Given the description of an element on the screen output the (x, y) to click on. 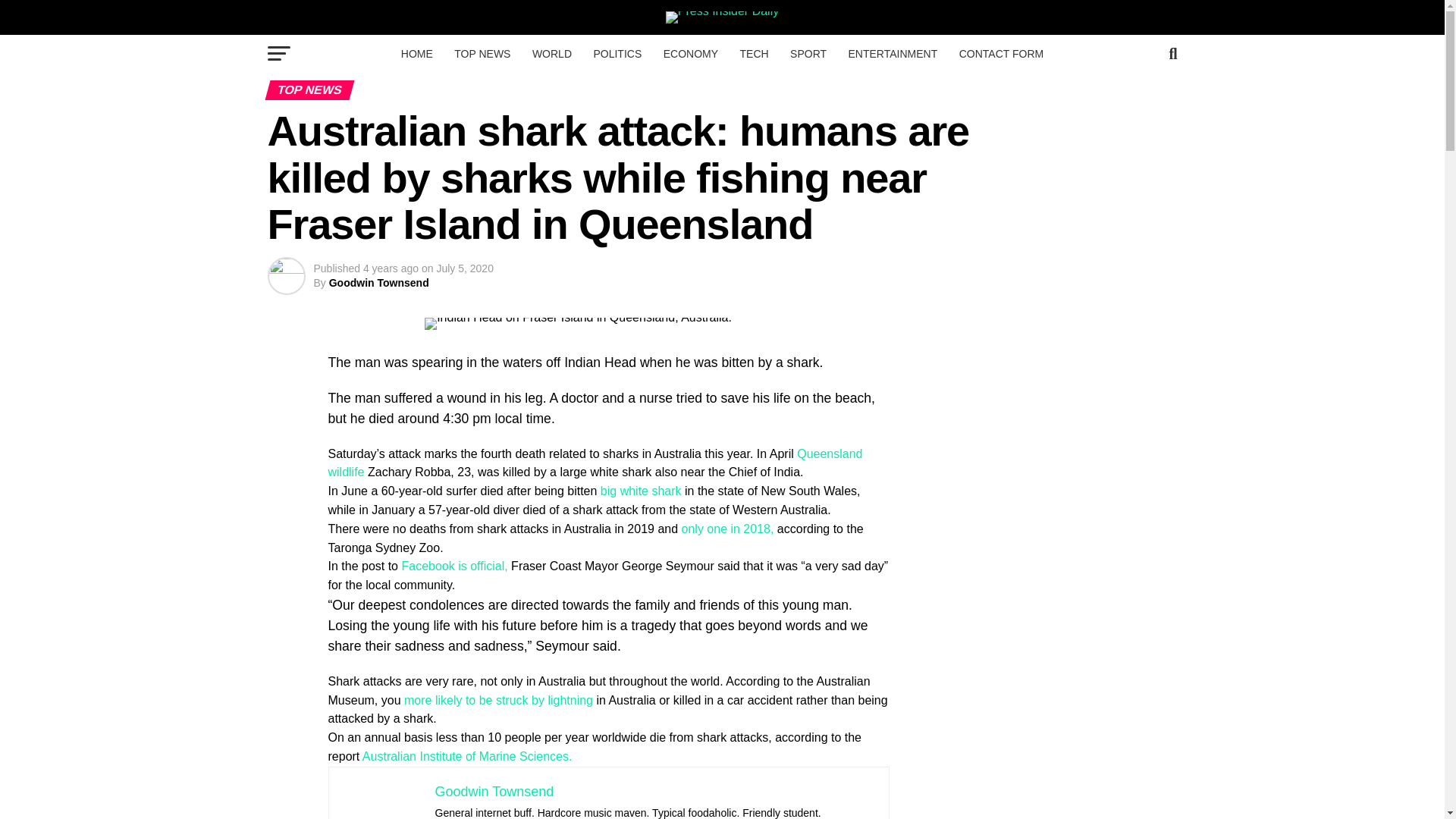
ECONOMY (689, 53)
Posts by Goodwin Townsend (379, 282)
TOP NEWS (482, 53)
Goodwin Townsend (494, 791)
Facebook is official, (453, 565)
TECH (753, 53)
Goodwin Townsend (379, 282)
ENTERTAINMENT (893, 53)
CONTACT FORM (1001, 53)
Queensland wildlife (594, 463)
Australian Institute of Marine Sciences. (467, 756)
WORLD (551, 53)
more likely to be struck by lightning (498, 699)
SPORT (807, 53)
HOME (416, 53)
